Given the description of an element on the screen output the (x, y) to click on. 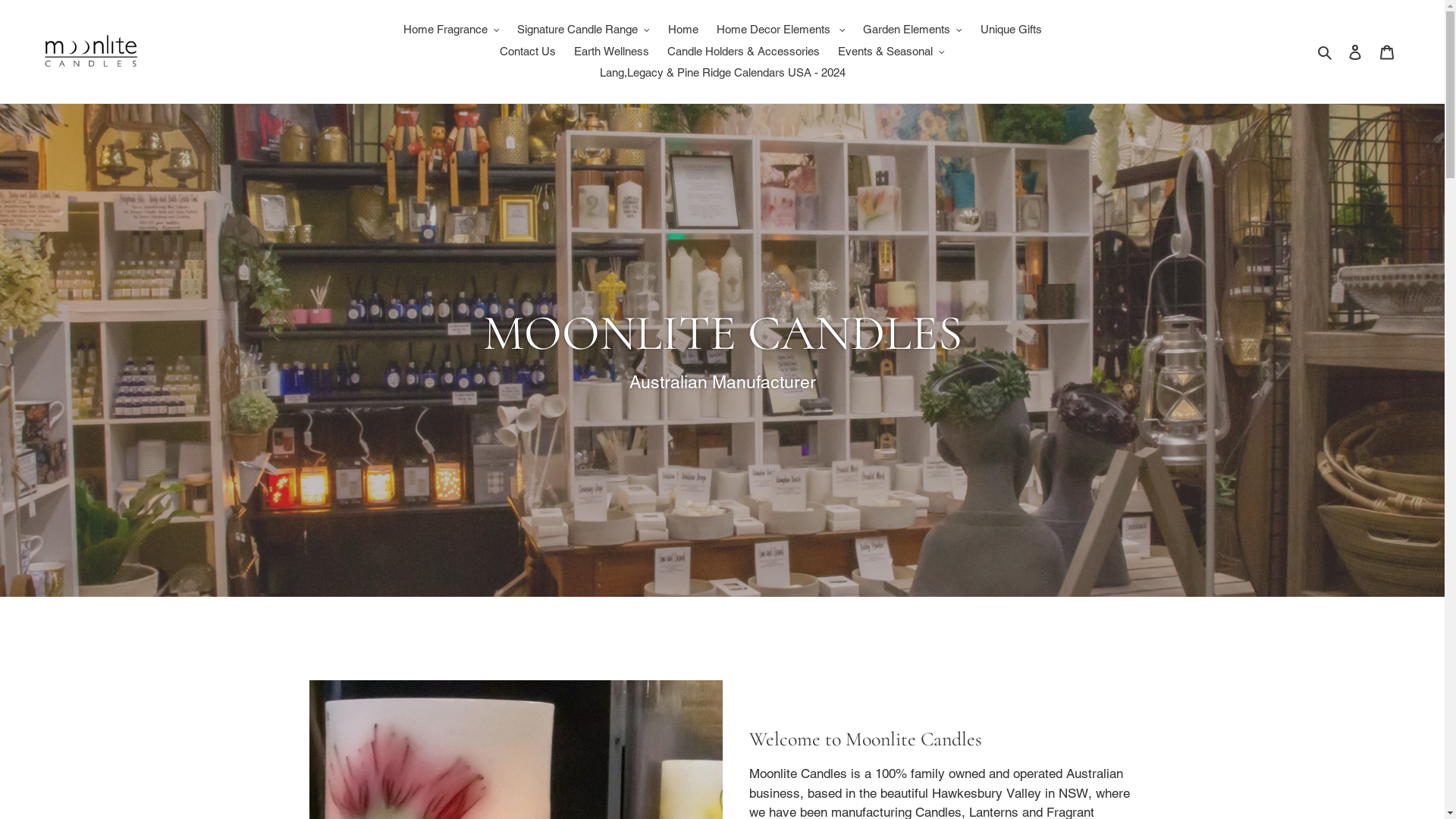
Lang,Legacy & Pine Ridge Calendars USA - 2024 Element type: text (721, 73)
Cart Element type: text (1386, 50)
Events & Seasonal Element type: text (891, 51)
Contact Us Element type: text (527, 51)
Home Decor Elements Element type: text (780, 29)
Home Fragrance Element type: text (451, 29)
Earth Wellness Element type: text (611, 51)
Home Element type: text (682, 29)
Garden Elements Element type: text (912, 29)
Unique Gifts Element type: text (1010, 29)
Candle Holders & Accessories Element type: text (743, 51)
Log in Element type: text (1355, 50)
Signature Candle Range Element type: text (583, 29)
Search Element type: text (1325, 51)
